Given the description of an element on the screen output the (x, y) to click on. 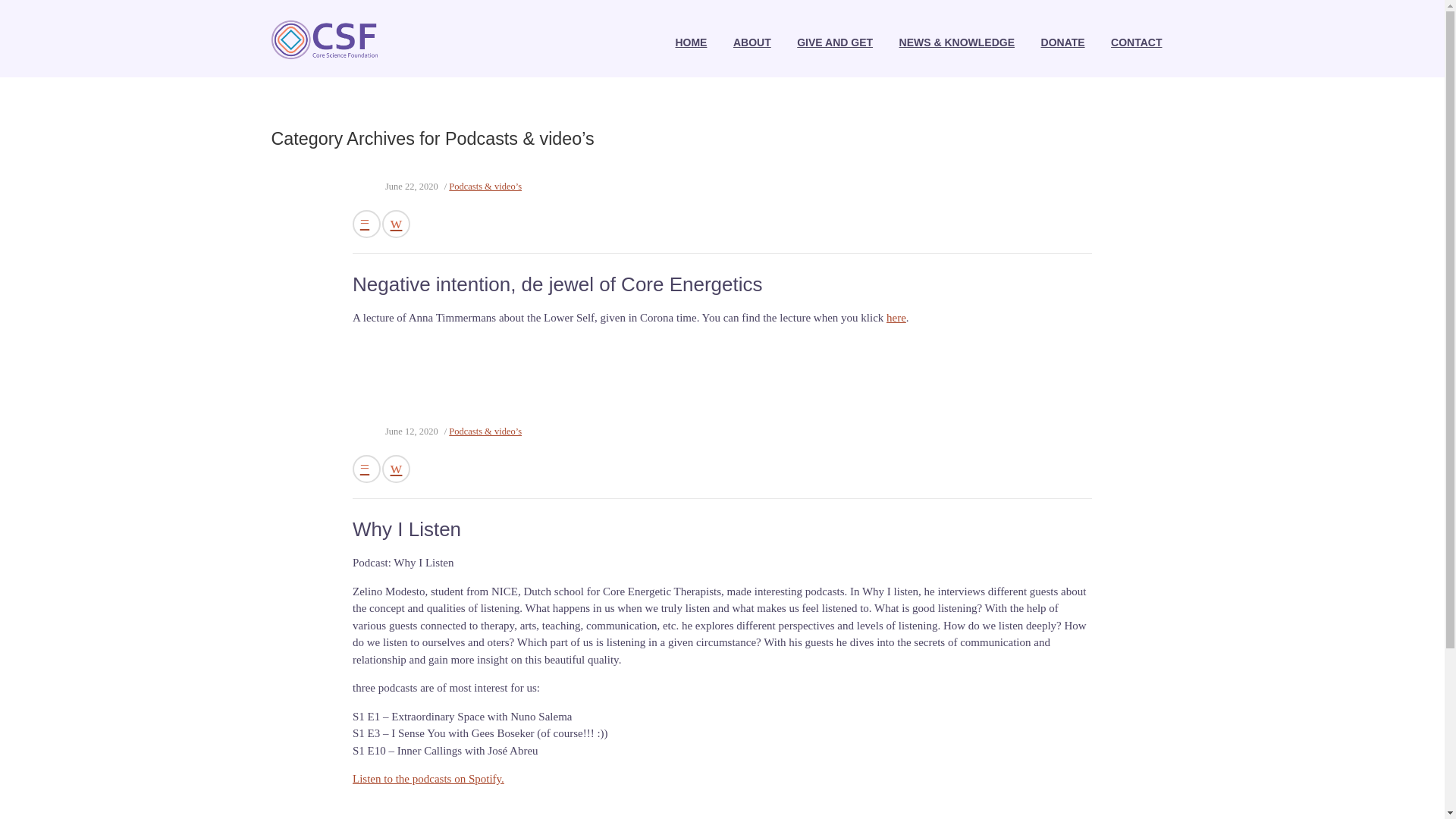
HOME (690, 42)
GIVE AND GET (834, 42)
DONATE (1062, 42)
CONTACT (1135, 42)
here (895, 317)
Listen to the podcasts on Spotify. (427, 778)
ABOUT (752, 42)
